Given the description of an element on the screen output the (x, y) to click on. 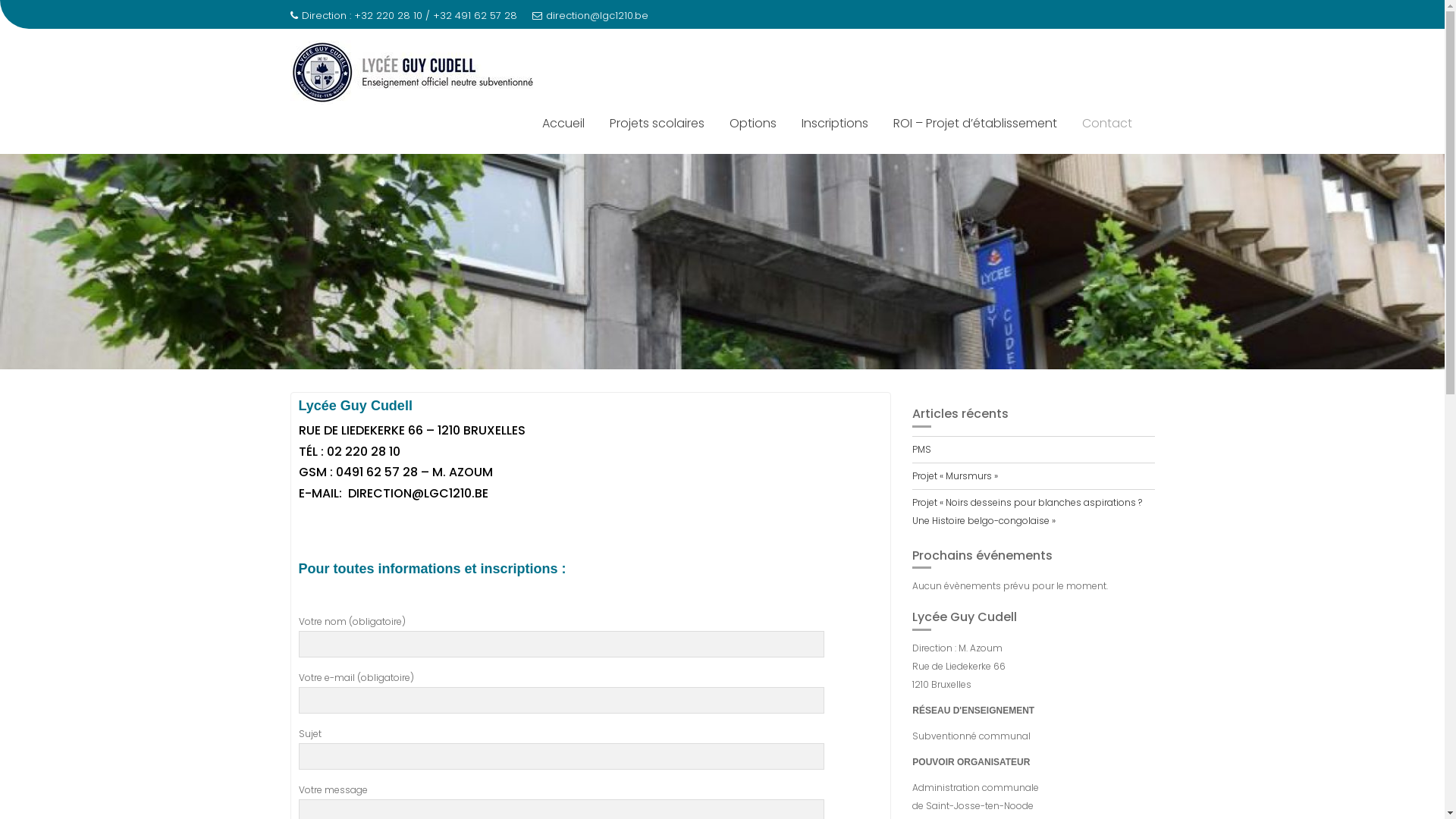
Skip to content Element type: text (0, 0)
Options Element type: text (752, 123)
Accueil Element type: text (563, 123)
Projets scolaires Element type: text (656, 123)
Inscriptions Element type: text (834, 123)
Contact Element type: text (1106, 123)
direction@lgc1210.be Element type: text (590, 15)
PMS Element type: text (921, 448)
